Given the description of an element on the screen output the (x, y) to click on. 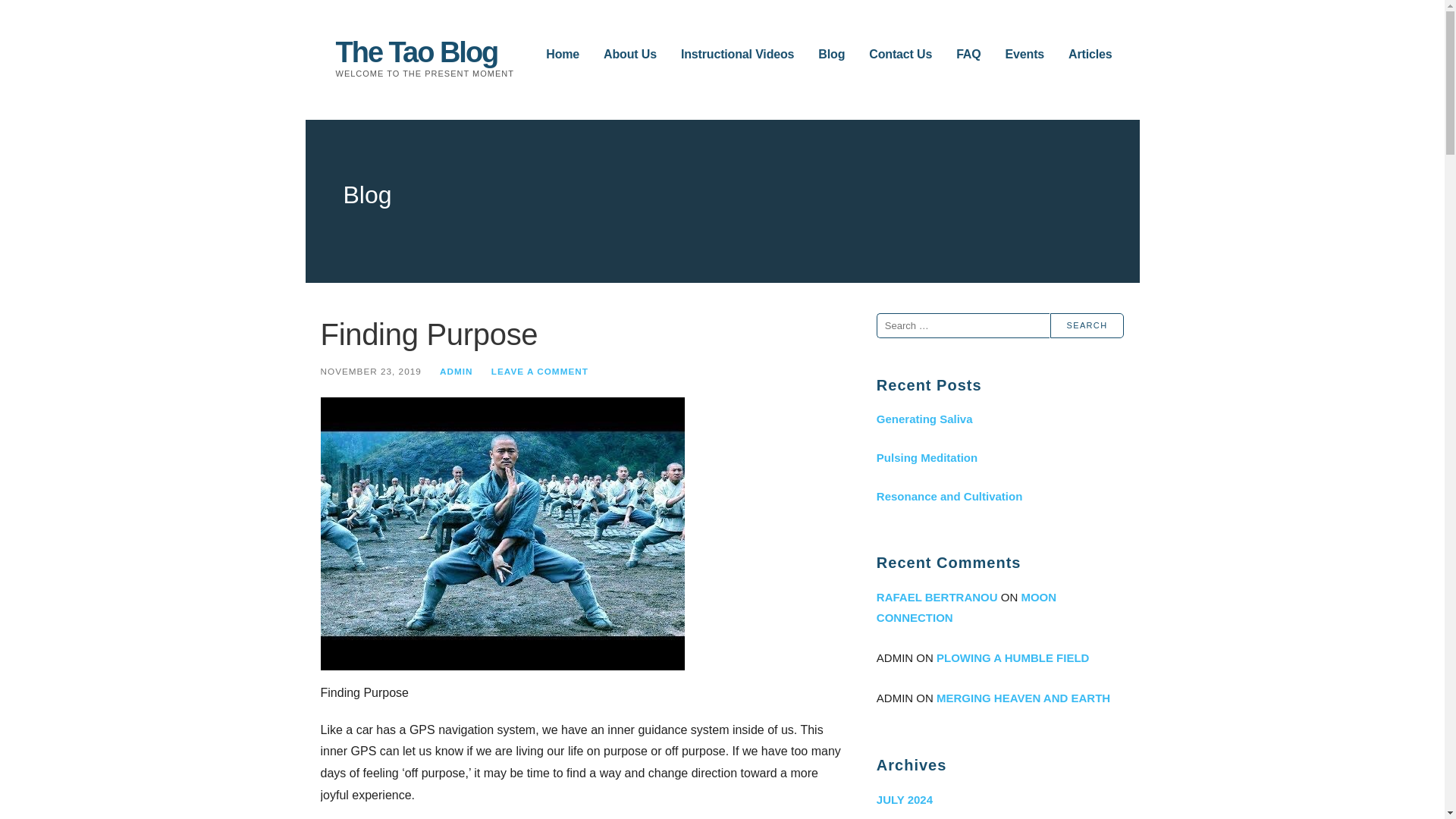
Articles (1090, 55)
Home (562, 55)
Search (1086, 325)
MERGING HEAVEN AND EARTH (1022, 697)
RAFAEL BERTRANOU (936, 596)
Generating Saliva (1000, 418)
Contact Us (900, 55)
The Tao Blog (415, 51)
JULY 2024 (1000, 799)
LEAVE A COMMENT (540, 370)
Events (1025, 55)
ADMIN (456, 370)
Resonance and Cultivation (1000, 496)
Instructional Videos (737, 55)
Pulsing Meditation (1000, 457)
